Given the description of an element on the screen output the (x, y) to click on. 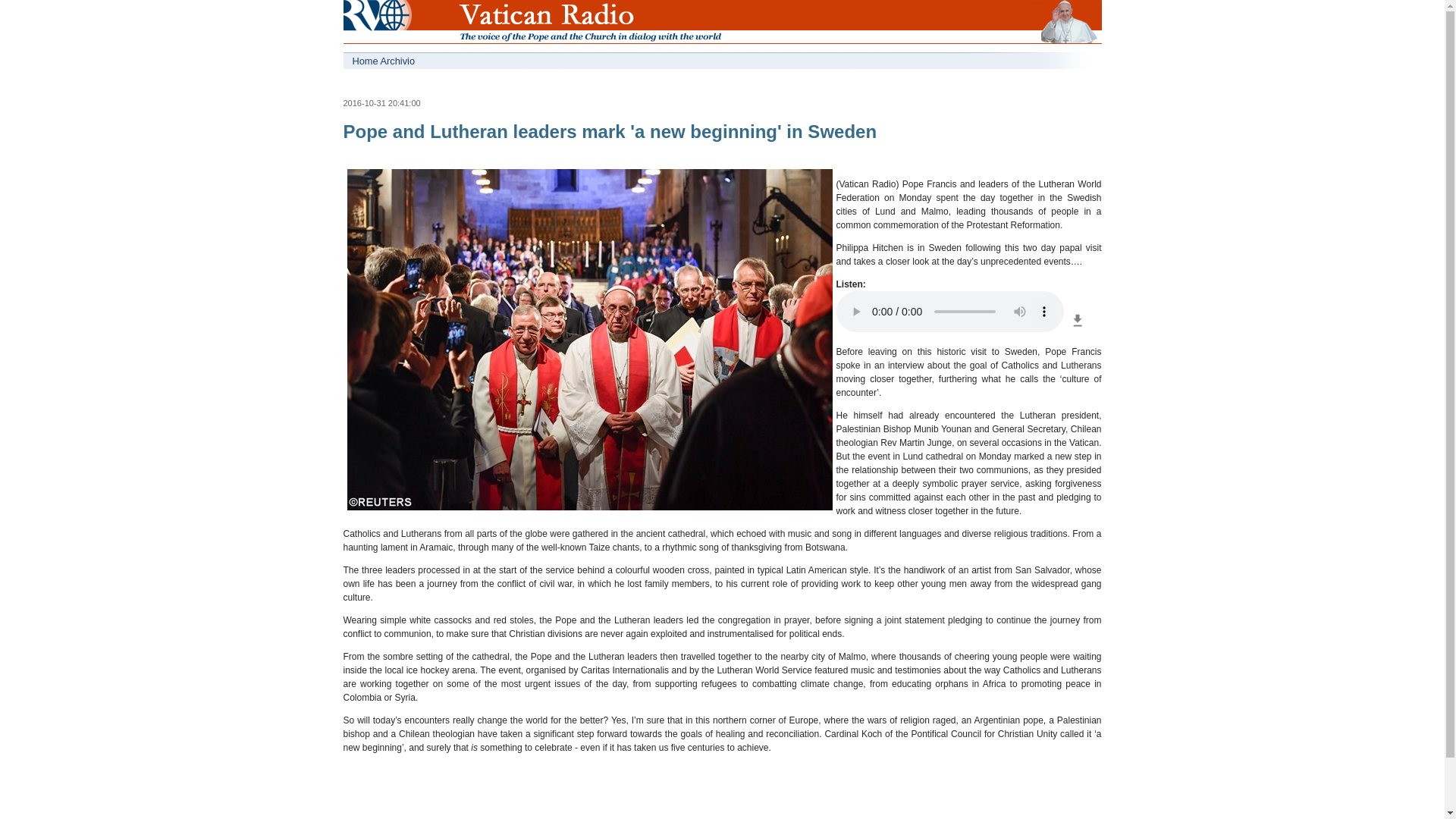
Download audio (1077, 328)
Home (370, 24)
Home Archivio (532, 60)
